Given the description of an element on the screen output the (x, y) to click on. 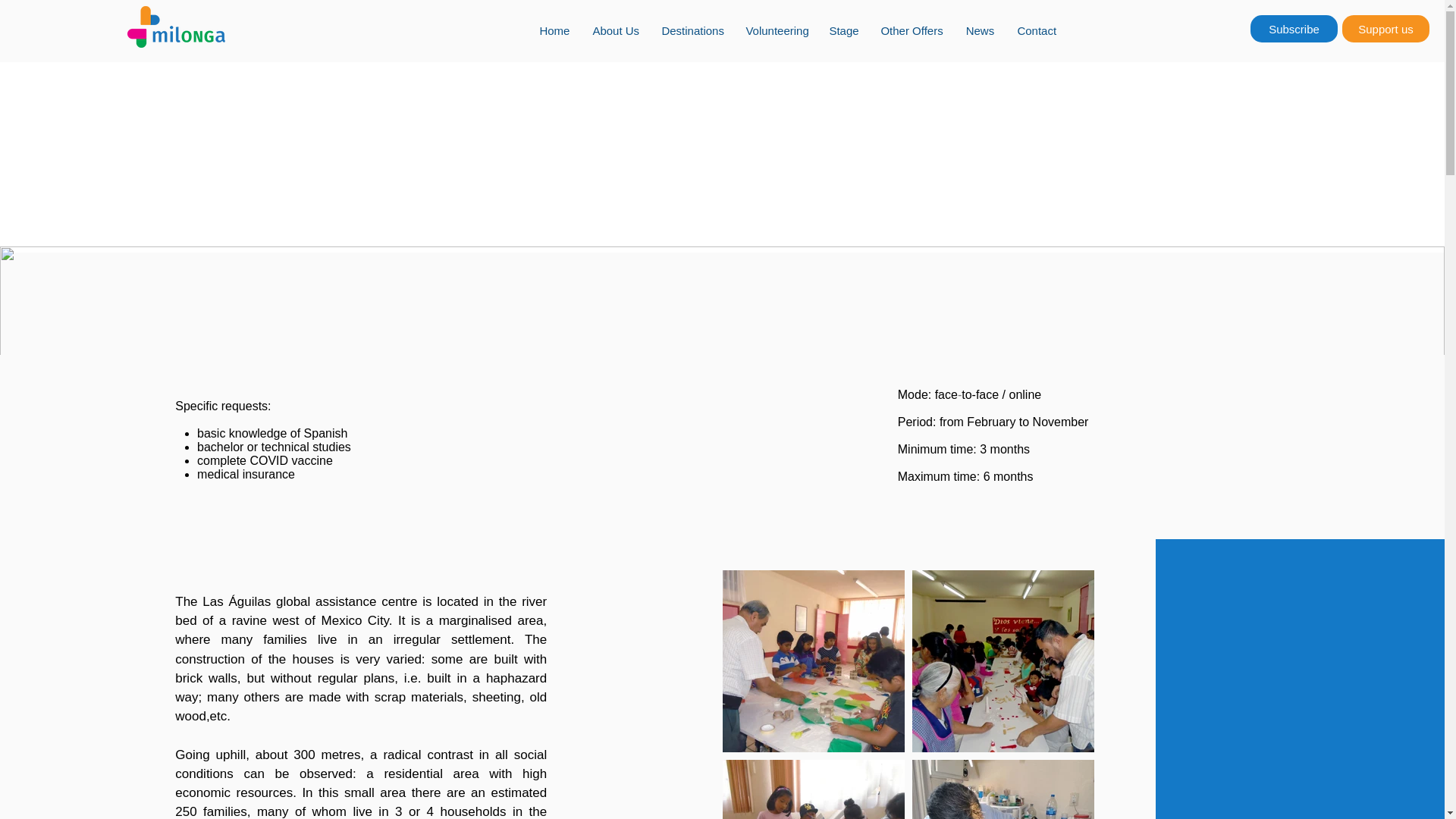
Stage (842, 30)
About Us (614, 30)
Destinations (691, 30)
News (979, 30)
Volunteering (774, 30)
Other Offers (911, 30)
Home (553, 30)
Contact (1036, 30)
Support us (1385, 28)
Subscribe (1294, 28)
